Given the description of an element on the screen output the (x, y) to click on. 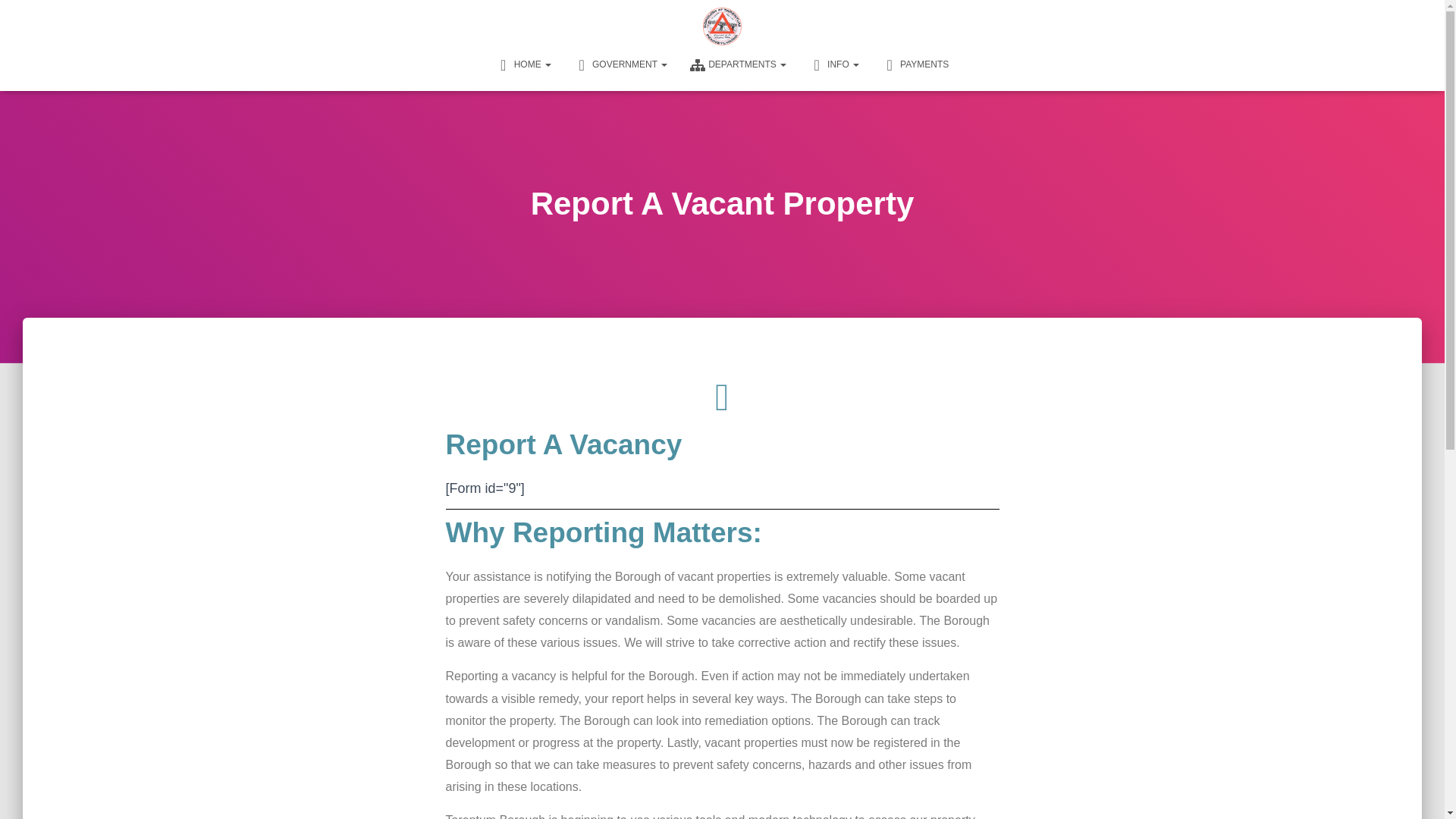
DEPARTMENTS (737, 64)
INFO (833, 64)
Home (523, 64)
HOME (523, 64)
GOVERNMENT (620, 64)
Government (620, 64)
Tarentum Borough (721, 26)
